Given the description of an element on the screen output the (x, y) to click on. 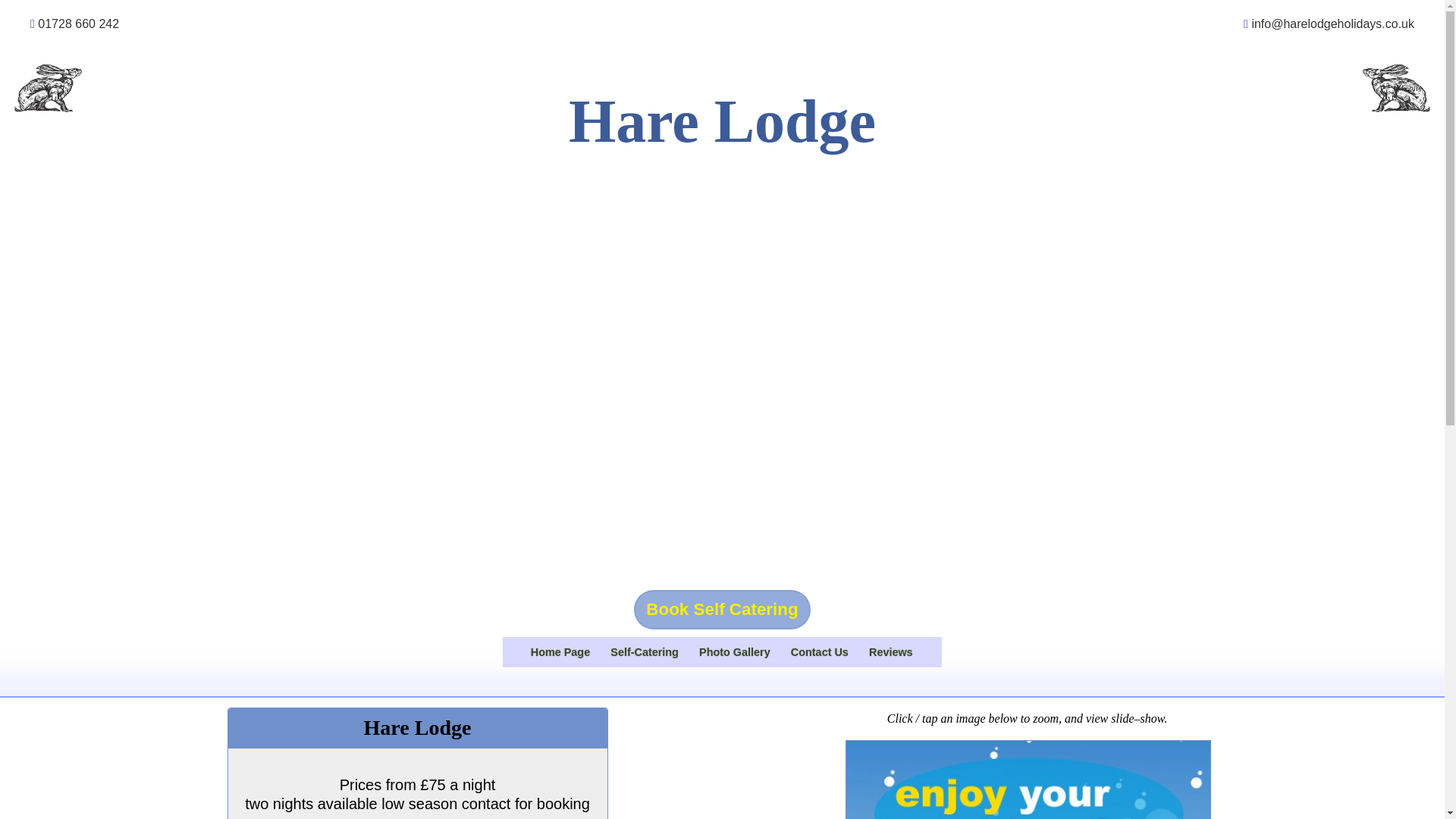
Book Self Catering (721, 609)
Reviews (891, 652)
01728 660 242 (645, 652)
Photo Gallery (78, 23)
Self-Catering (734, 652)
Get in touch and let us help you have a fantastic break! (645, 652)
Read our Reviews (819, 652)
Book a Self Catering stay at Hare Lodge (891, 652)
